Given the description of an element on the screen output the (x, y) to click on. 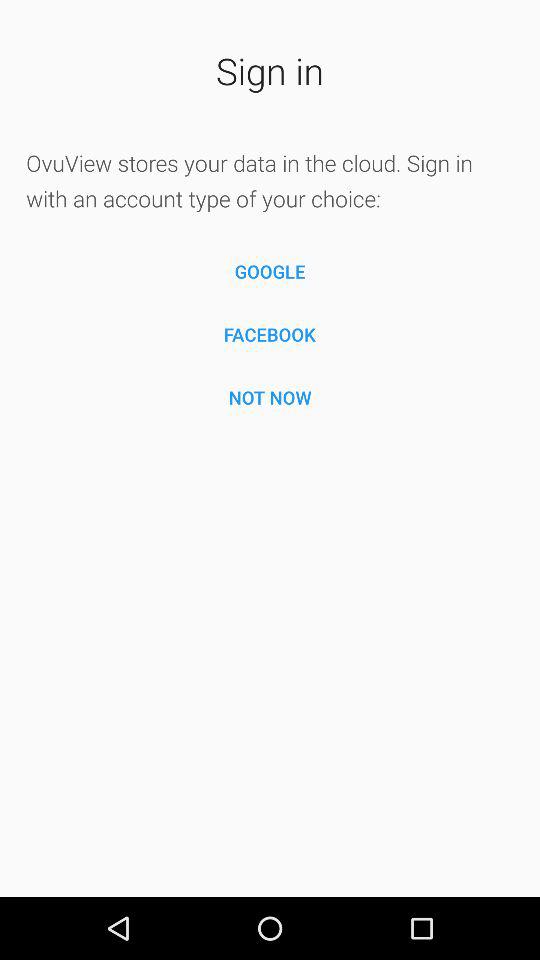
jump until google icon (269, 271)
